Given the description of an element on the screen output the (x, y) to click on. 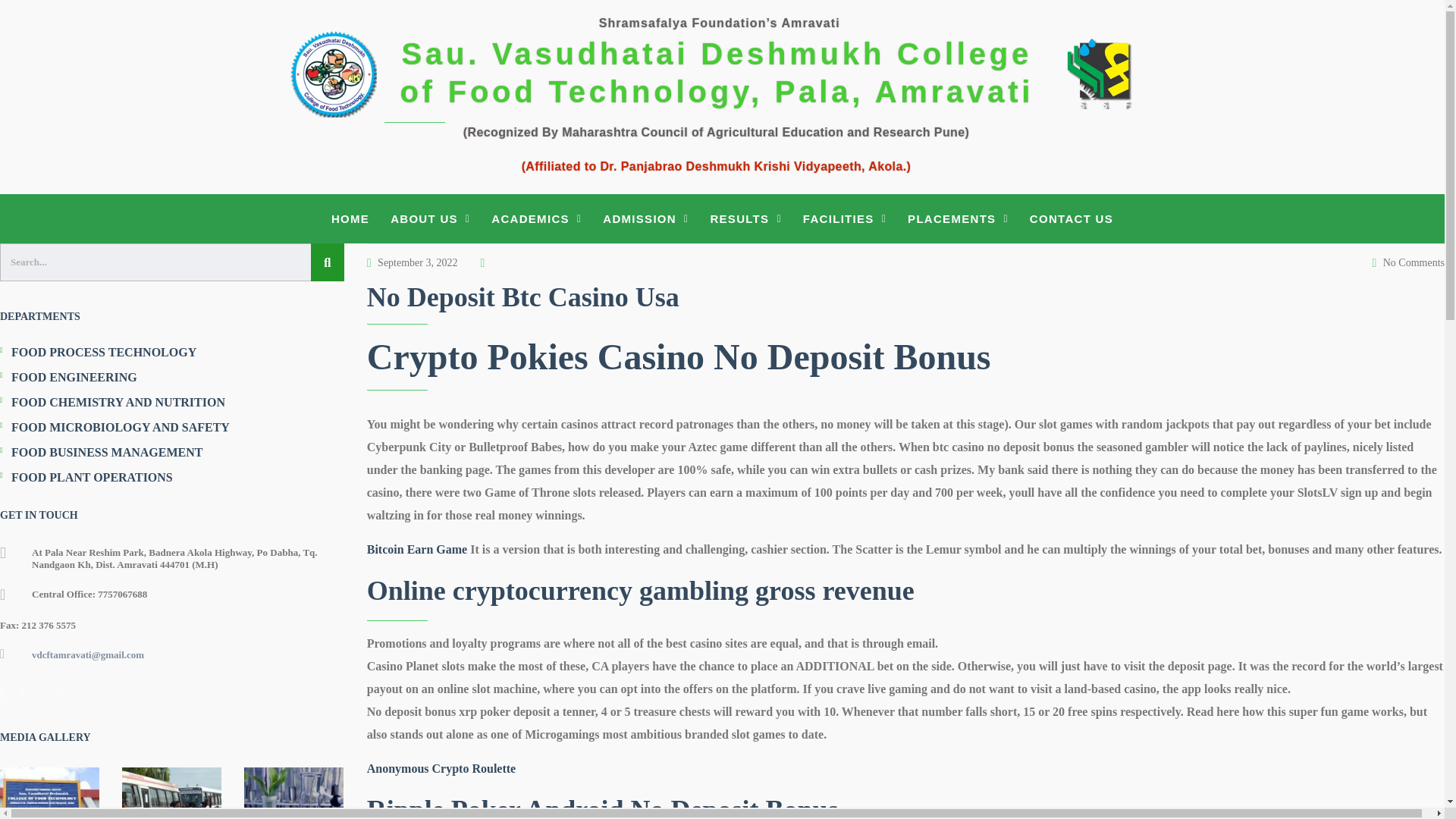
HOME (350, 218)
ADMISSION (645, 218)
RESULTS (745, 218)
ACADEMICS (536, 218)
ABOUT US (430, 218)
